Given the description of an element on the screen output the (x, y) to click on. 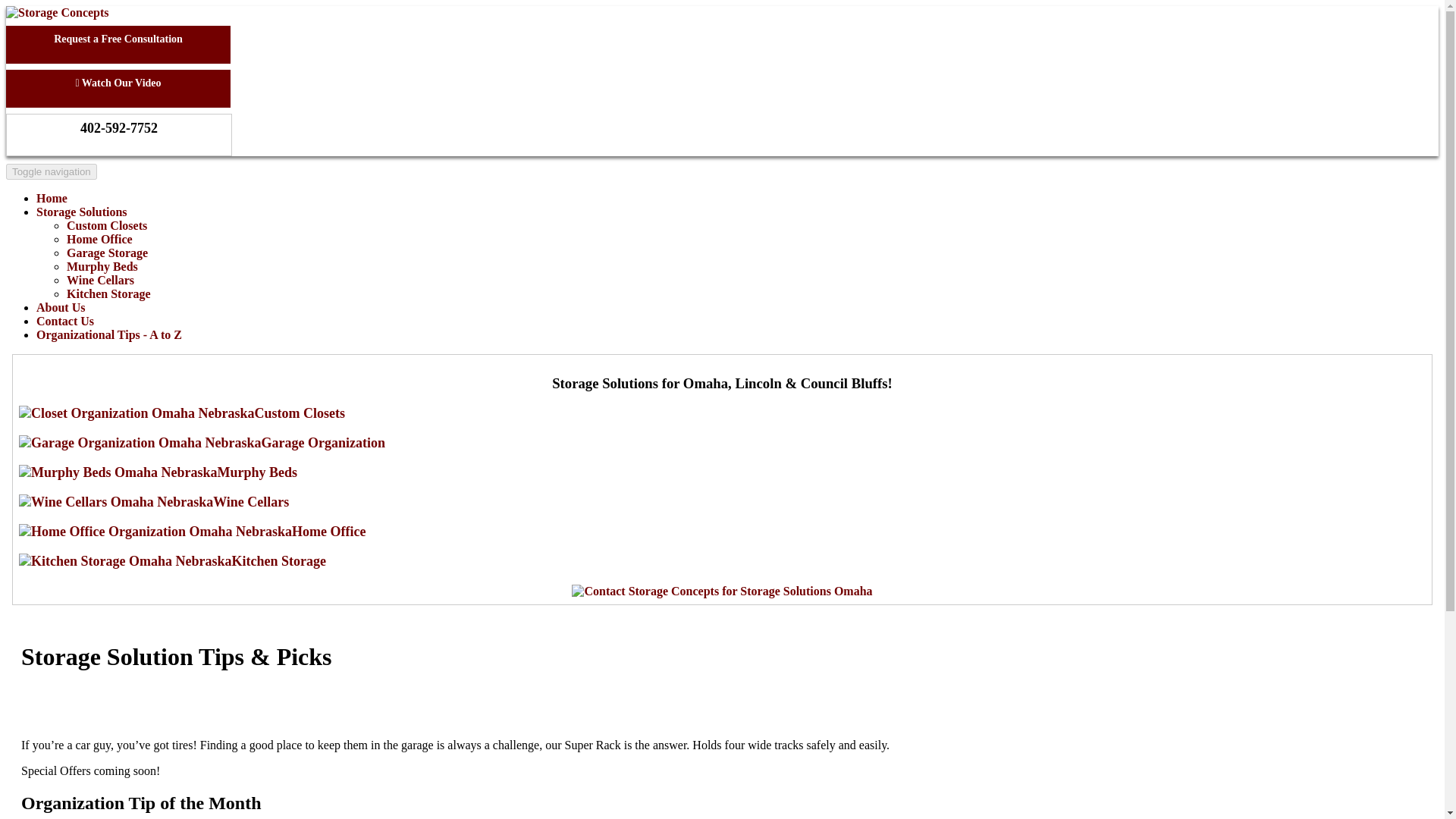
Home Office (191, 531)
Custom Closets (181, 412)
Home (51, 197)
Custom Closets (106, 225)
Kitchen Storage (108, 293)
About Us (60, 307)
Storage Solutions (82, 211)
Murphy Beds (102, 266)
Kitchen Storage (172, 560)
Garage Organization (201, 442)
